Given the description of an element on the screen output the (x, y) to click on. 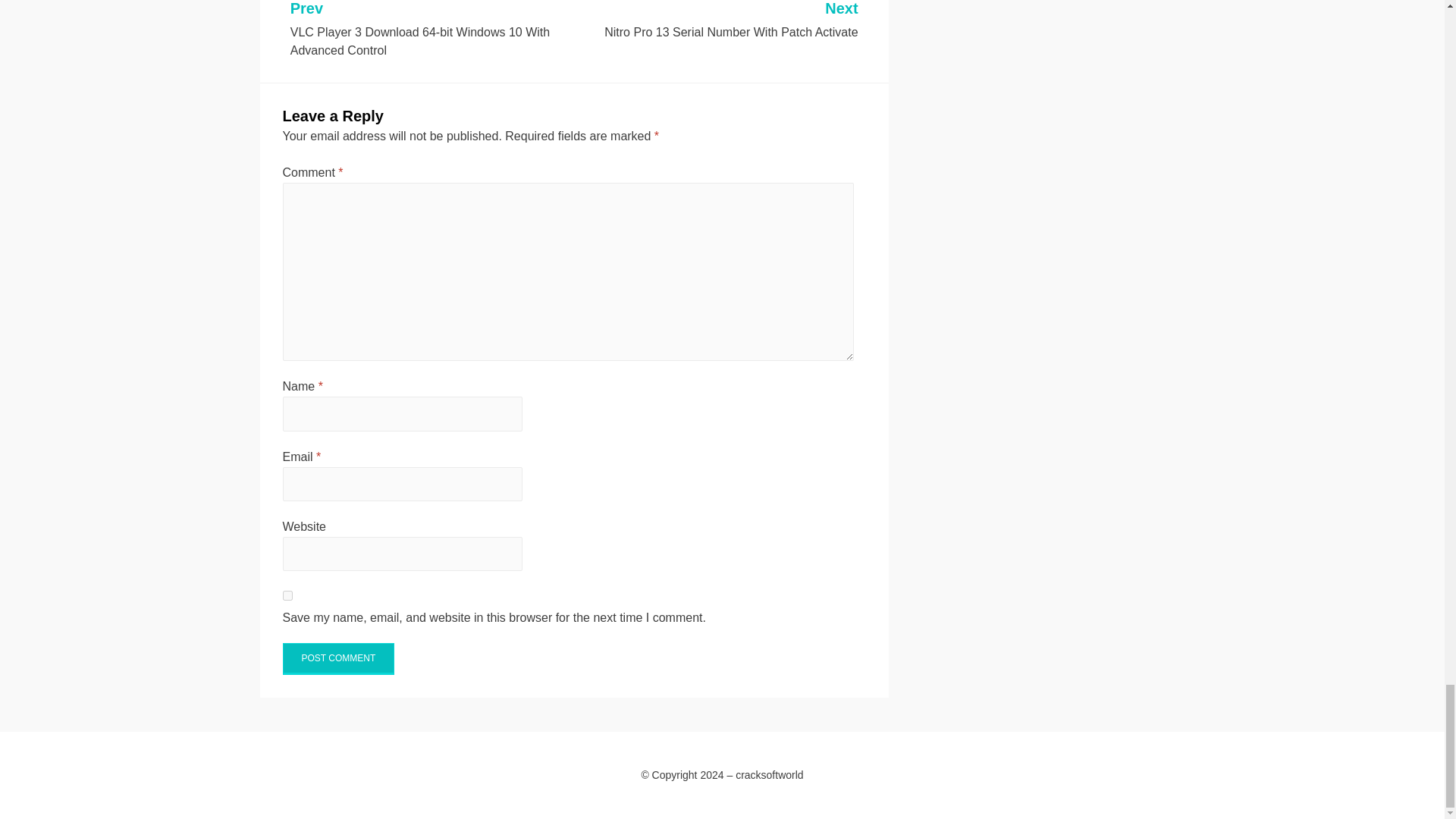
yes (287, 595)
Post Comment (717, 20)
Post Comment (338, 658)
TemplateLens (338, 658)
WordPress (358, 796)
